Given the description of an element on the screen output the (x, y) to click on. 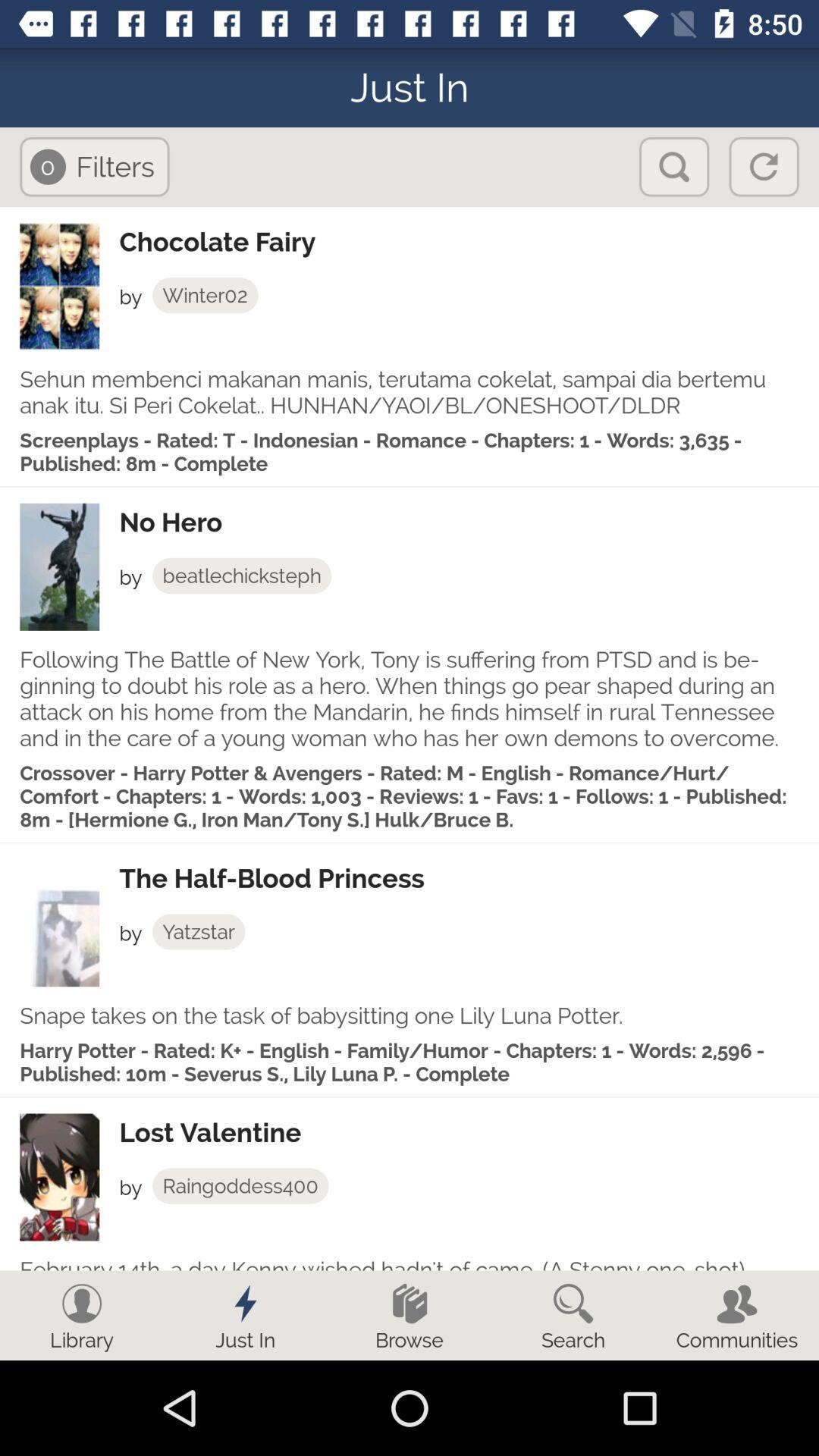
open the app above the by item (469, 522)
